Given the description of an element on the screen output the (x, y) to click on. 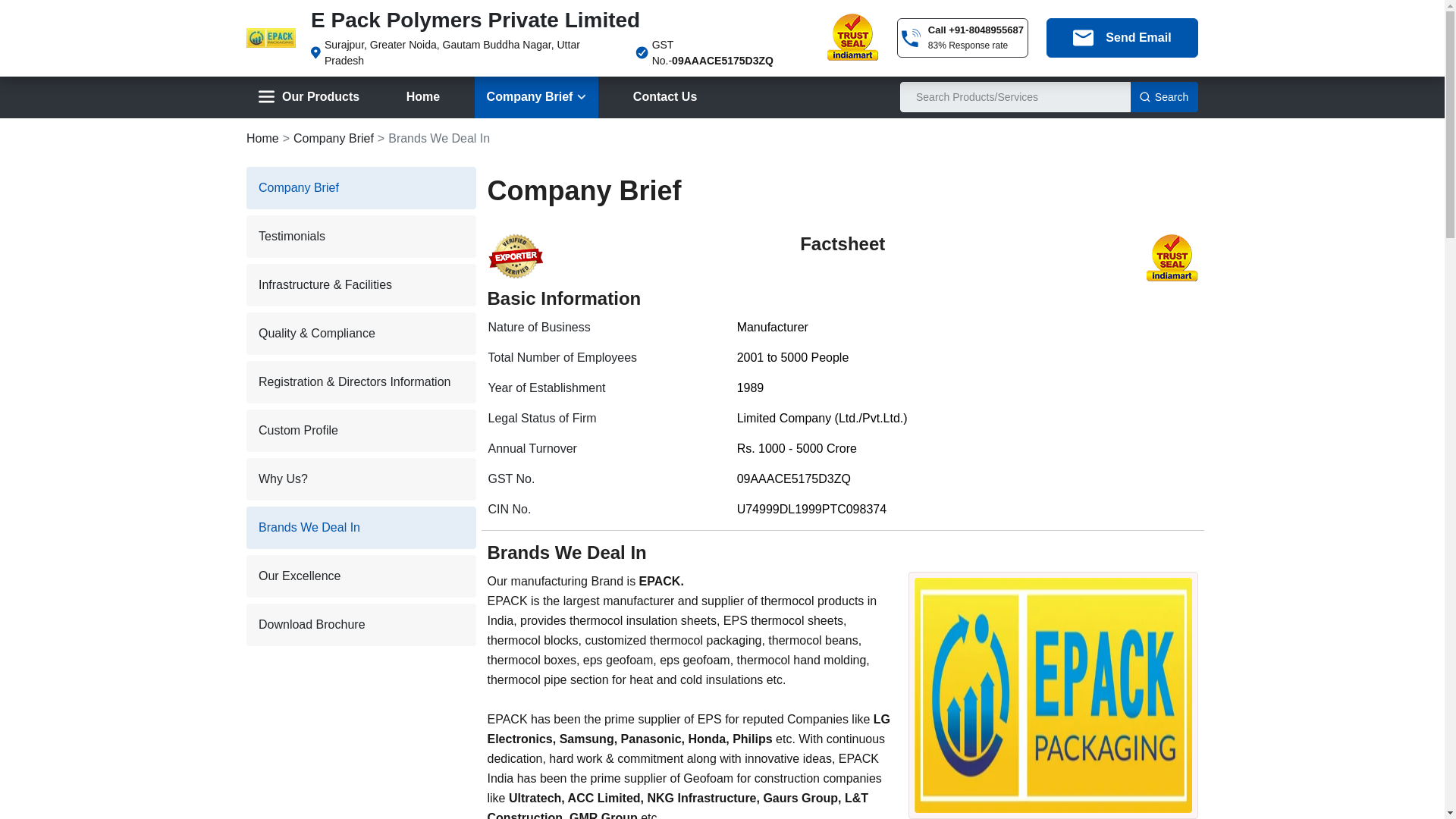
Home (422, 96)
Company Brief (536, 96)
Send Email (1122, 37)
Our Products (308, 96)
